Given the description of an element on the screen output the (x, y) to click on. 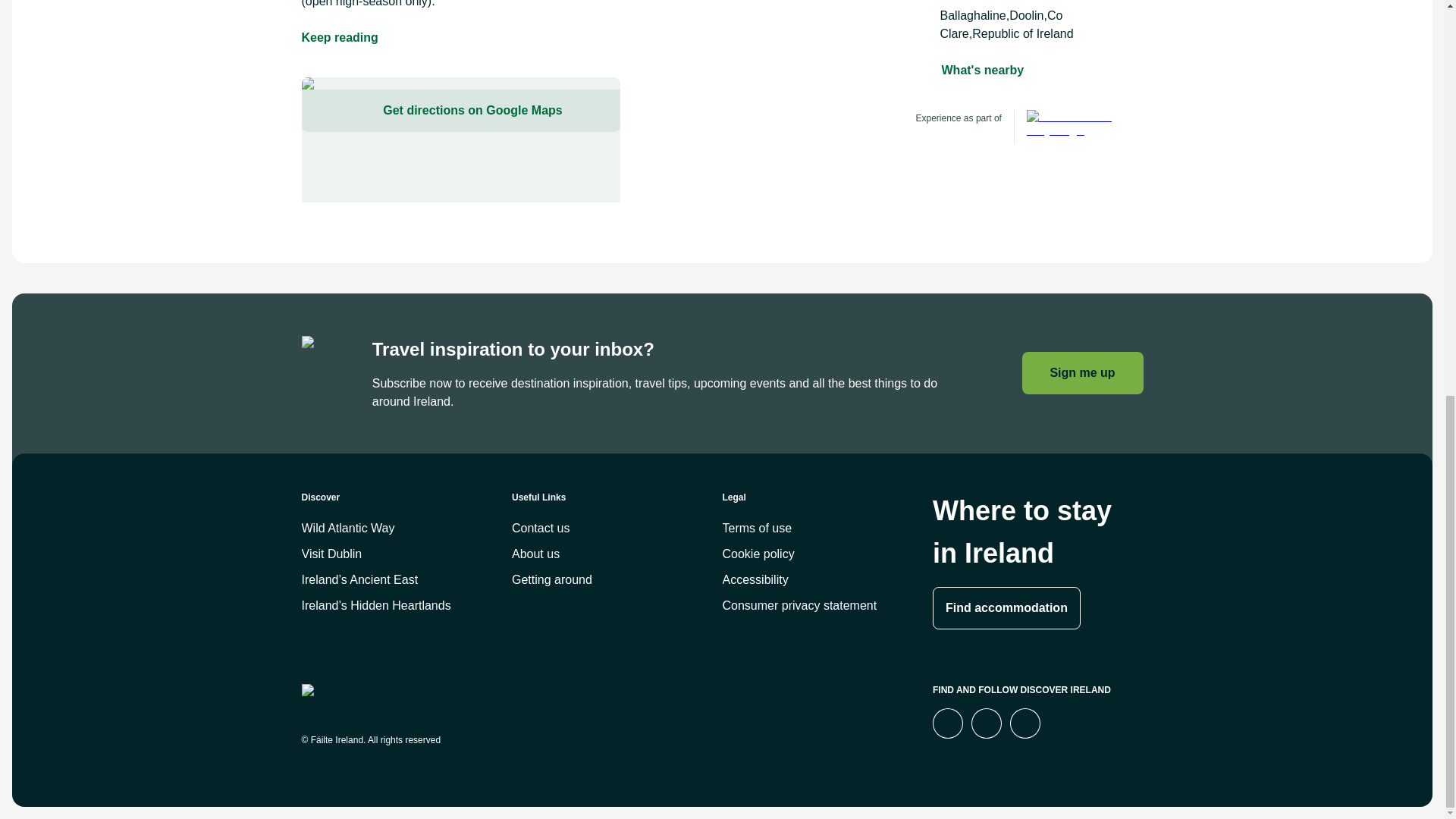
Wild Atlantic Way (1070, 126)
Sign me up (1082, 372)
Get directions on Google Maps (460, 139)
What's nearby (983, 70)
Get directions on Google Maps (460, 110)
Keep reading (339, 37)
